Given the description of an element on the screen output the (x, y) to click on. 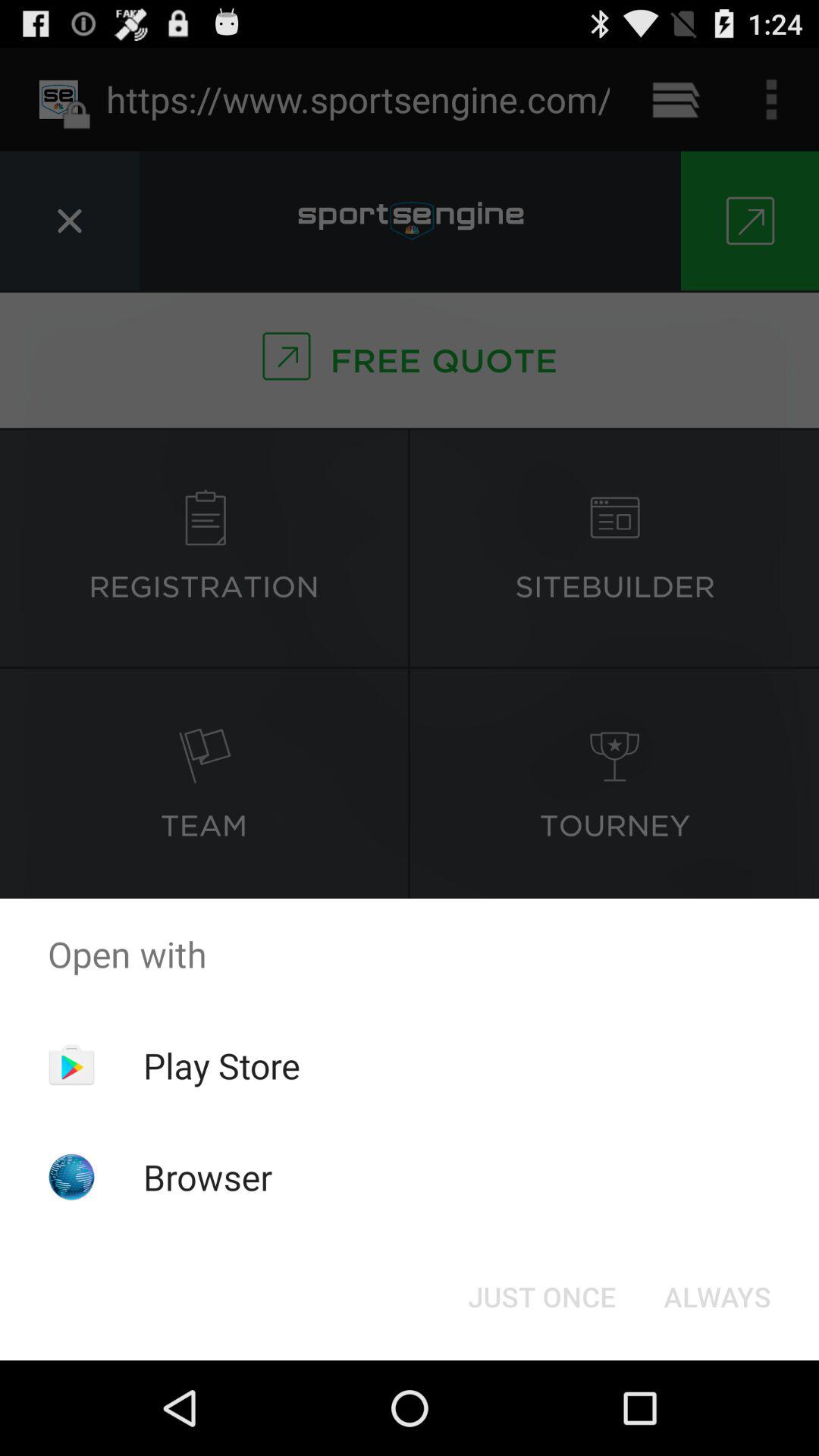
tap the button to the left of the always icon (541, 1296)
